Given the description of an element on the screen output the (x, y) to click on. 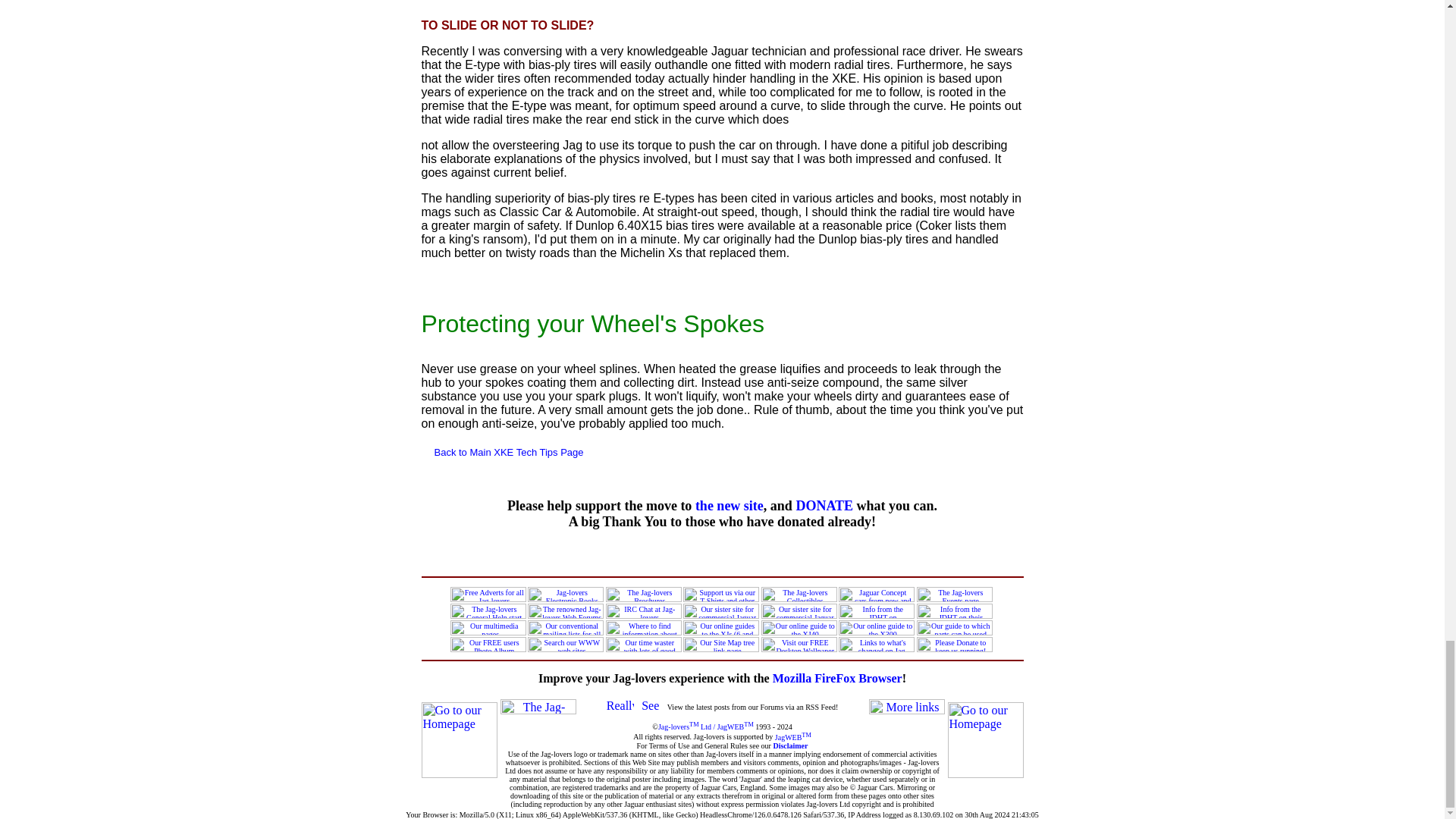
The renowned Jag-lovers Web Forums (565, 611)
Free Adverts for all Jag-lovers (487, 594)
The Jag-lovers Brochures collection (643, 594)
DONATE (823, 505)
IRC Chat at Jag-lovers (643, 611)
Back to Main XKE Tech Tips Page (508, 451)
Jag-lovers Electronic Books (565, 594)
The Jag-lovers Collectibles homepage (799, 594)
The Jag-lovers General Help start page (487, 611)
the new site (728, 505)
